Given the description of an element on the screen output the (x, y) to click on. 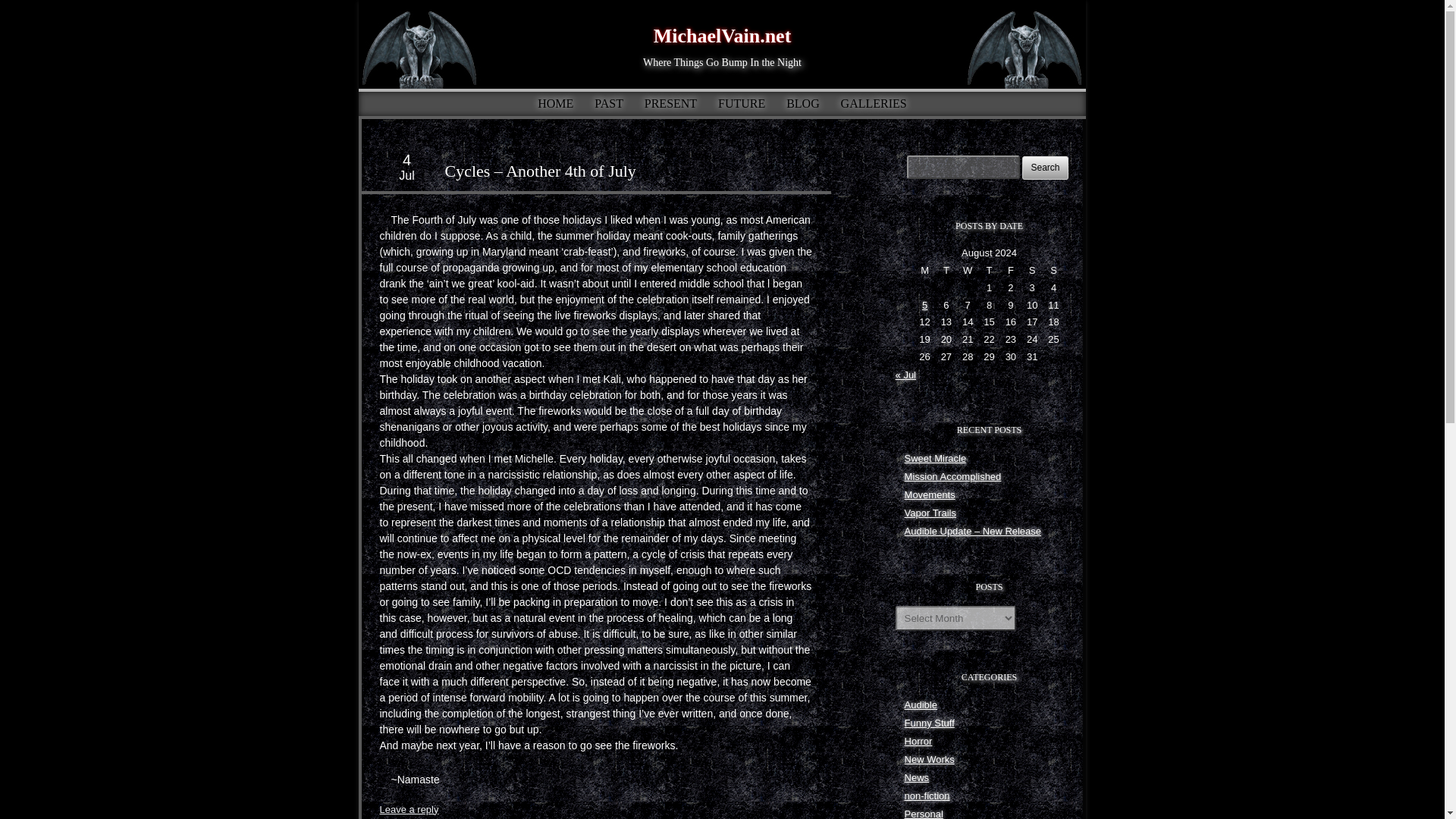
Sweet Miracle (935, 458)
PRESENT (671, 103)
MichaelVain.net (722, 36)
MichaelVain.net (722, 36)
Leave a reply (408, 808)
Tuesday (946, 271)
Mission Accomplished (952, 476)
Search (1044, 167)
Search (1044, 167)
